Given the description of an element on the screen output the (x, y) to click on. 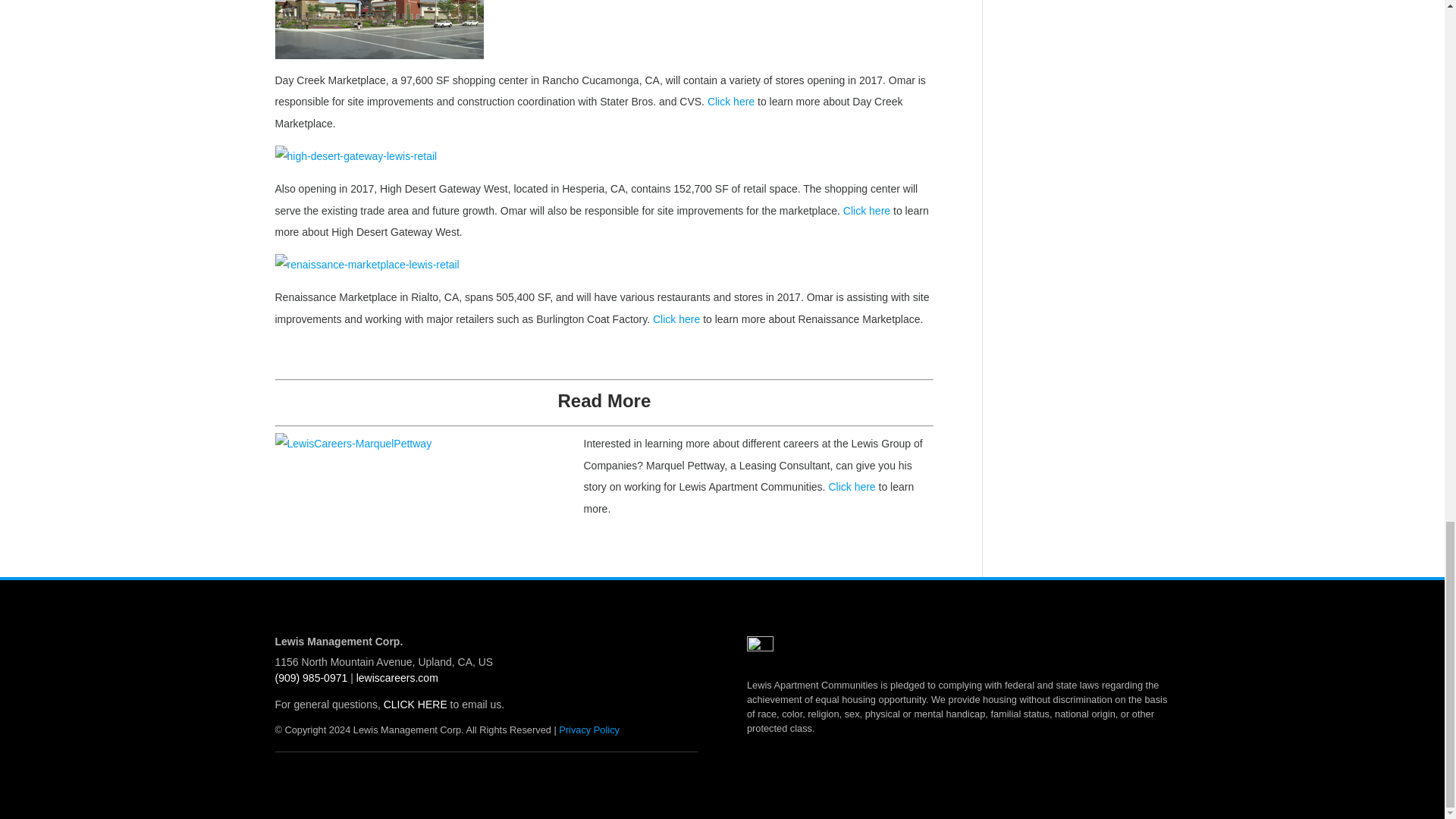
Omar-Blog-Daycreek (379, 29)
Click here (866, 210)
Lewis Management Corp (397, 677)
Click here (676, 318)
Click here (851, 486)
Click here (730, 101)
